Given the description of an element on the screen output the (x, y) to click on. 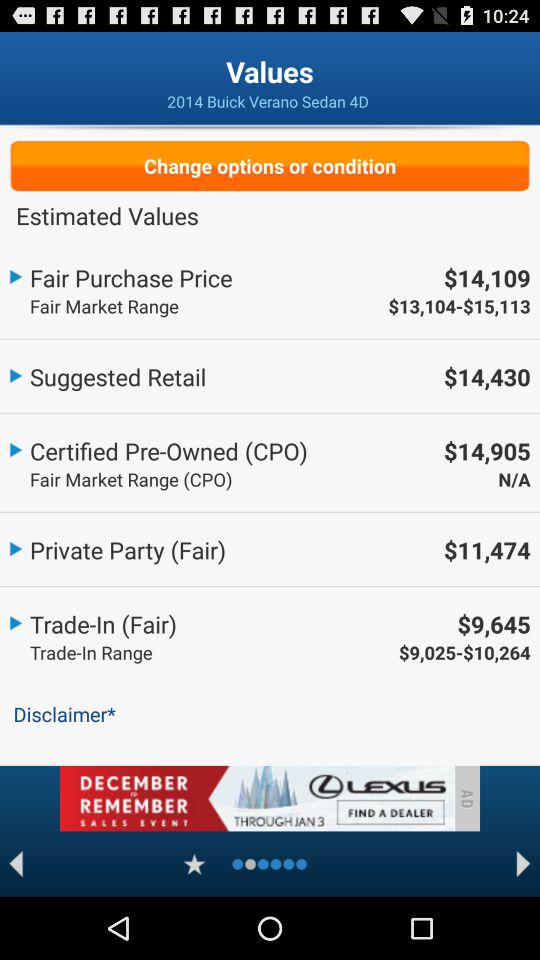
advertisement (256, 798)
